Given the description of an element on the screen output the (x, y) to click on. 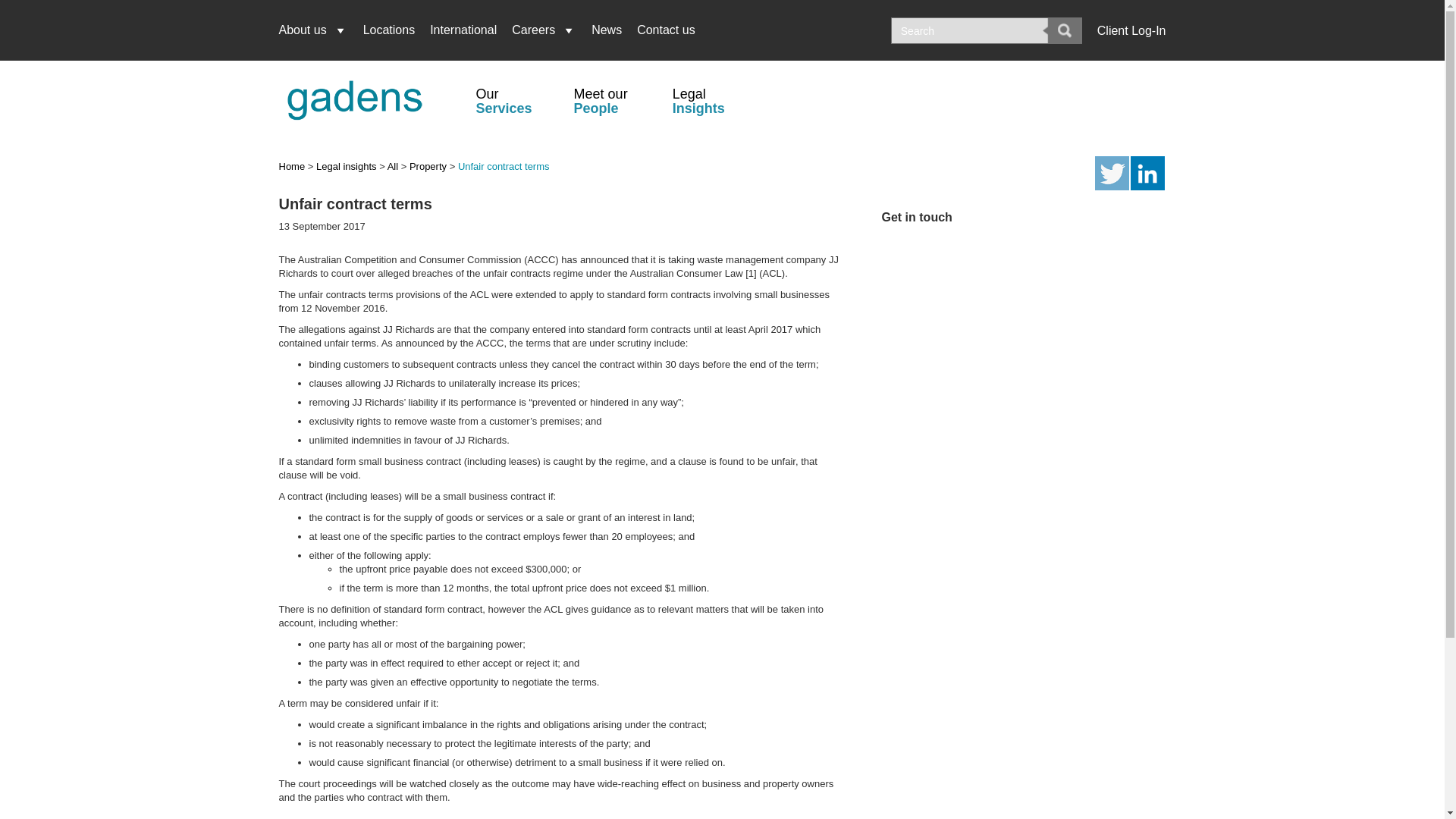
Contact us (664, 30)
Client Log-In (1131, 30)
About us (317, 30)
Go to Gadens. (292, 165)
Go to Legal insights. (346, 165)
Careers (543, 30)
Locations (389, 30)
Go to the Property Area of Expertise archives. (427, 165)
International (462, 30)
Search (1064, 30)
News (605, 30)
Search (1064, 30)
Go to the All Area of Expertise archives. (392, 165)
